Given the description of an element on the screen output the (x, y) to click on. 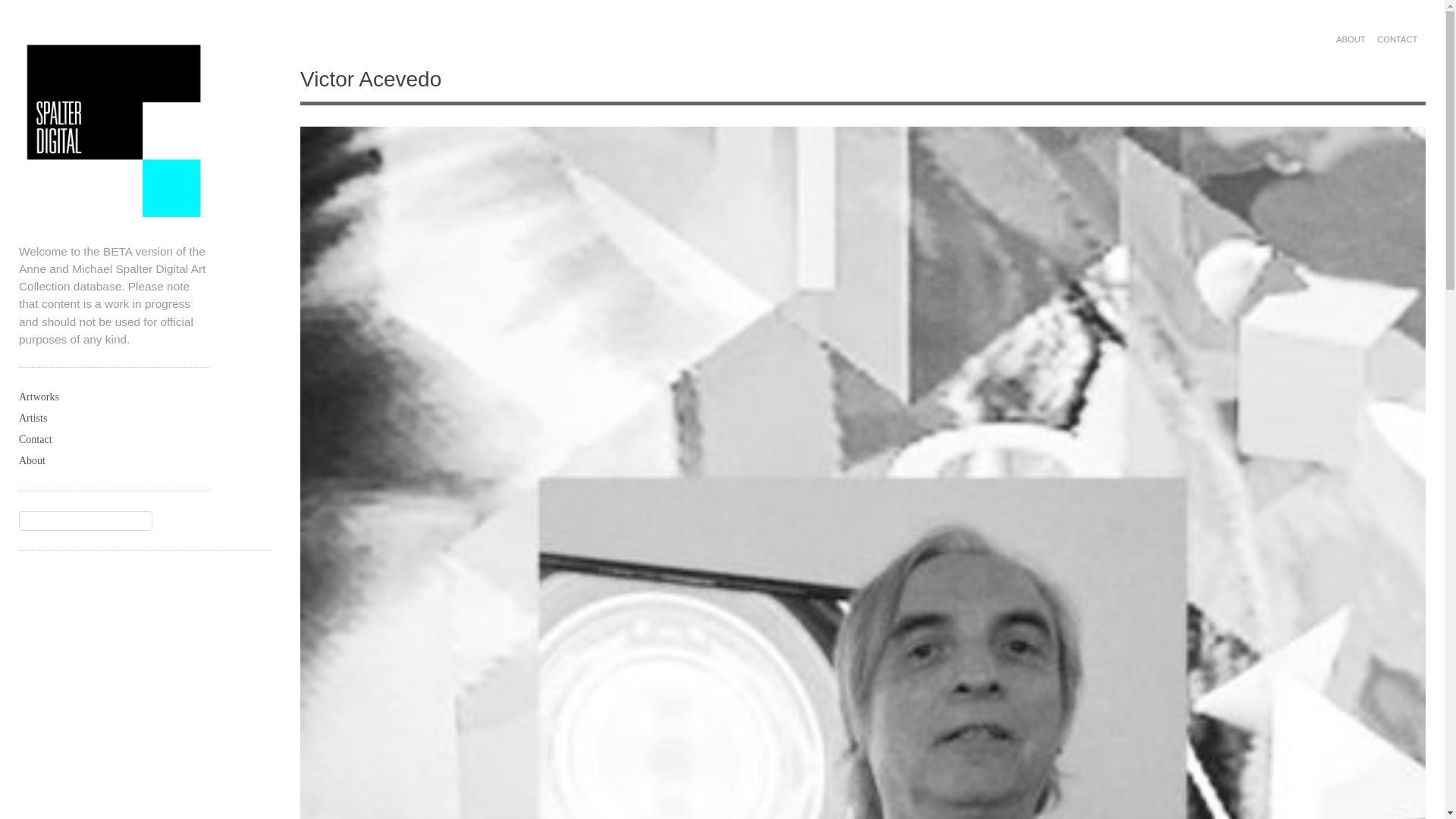
About (113, 460)
Contact (113, 439)
TWITTER (1319, 39)
CONTACT (1397, 39)
Artworks (113, 396)
Search (22, 9)
Artists (113, 418)
ABOUT (1351, 39)
